Given the description of an element on the screen output the (x, y) to click on. 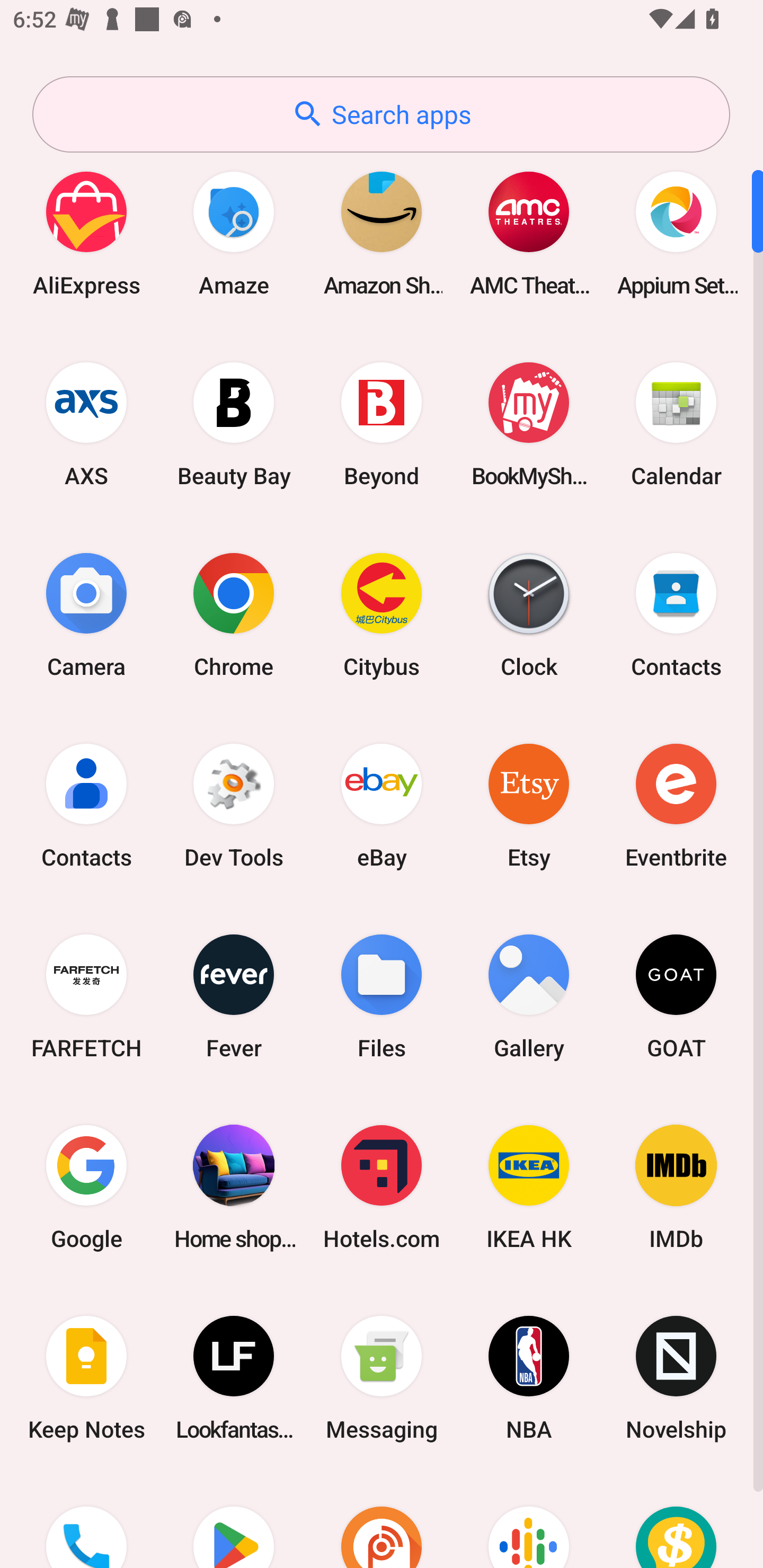
  Search apps (381, 114)
AliExpress (86, 233)
Amaze (233, 233)
Amazon Shopping (381, 233)
AMC Theatres (528, 233)
Appium Settings (676, 233)
AXS (86, 424)
Beauty Bay (233, 424)
Beyond (381, 424)
BookMyShow (528, 424)
Calendar (676, 424)
Camera (86, 614)
Chrome (233, 614)
Citybus (381, 614)
Clock (528, 614)
Contacts (676, 614)
Contacts (86, 805)
Dev Tools (233, 805)
eBay (381, 805)
Etsy (528, 805)
Eventbrite (676, 805)
FARFETCH (86, 996)
Fever (233, 996)
Files (381, 996)
Gallery (528, 996)
GOAT (676, 996)
Google (86, 1186)
Home shopping (233, 1186)
Hotels.com (381, 1186)
IKEA HK (528, 1186)
IMDb (676, 1186)
Keep Notes (86, 1377)
Lookfantastic (233, 1377)
Messaging (381, 1377)
NBA (528, 1377)
Novelship (676, 1377)
Phone (86, 1520)
Play Store (233, 1520)
Podcast Addict (381, 1520)
Podcasts (528, 1520)
Price (676, 1520)
